Given the description of an element on the screen output the (x, y) to click on. 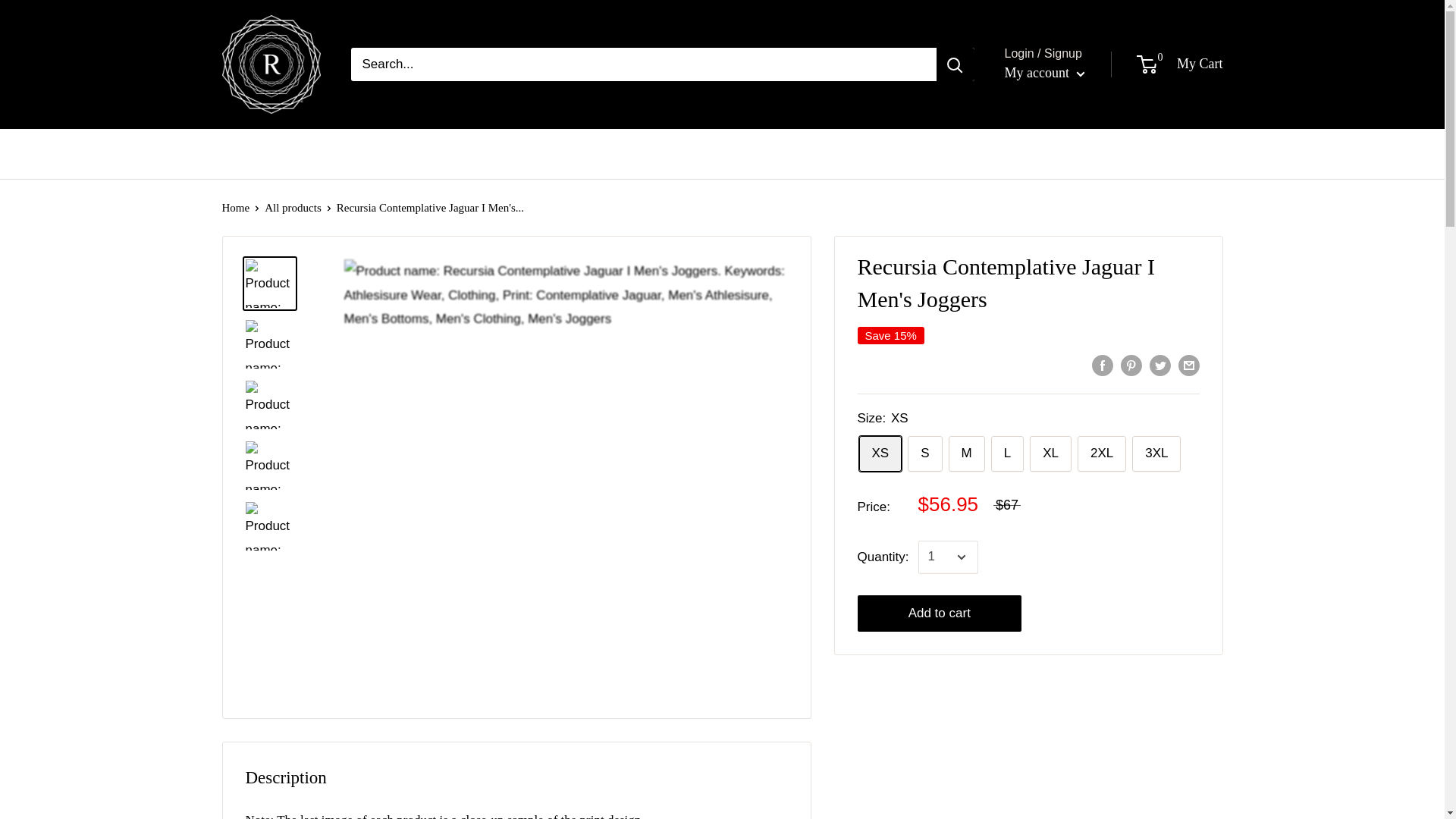
L (1007, 453)
S (924, 453)
M (967, 453)
2XL (1101, 453)
3XL (1156, 453)
XS (880, 453)
XL (1050, 453)
